Given the description of an element on the screen output the (x, y) to click on. 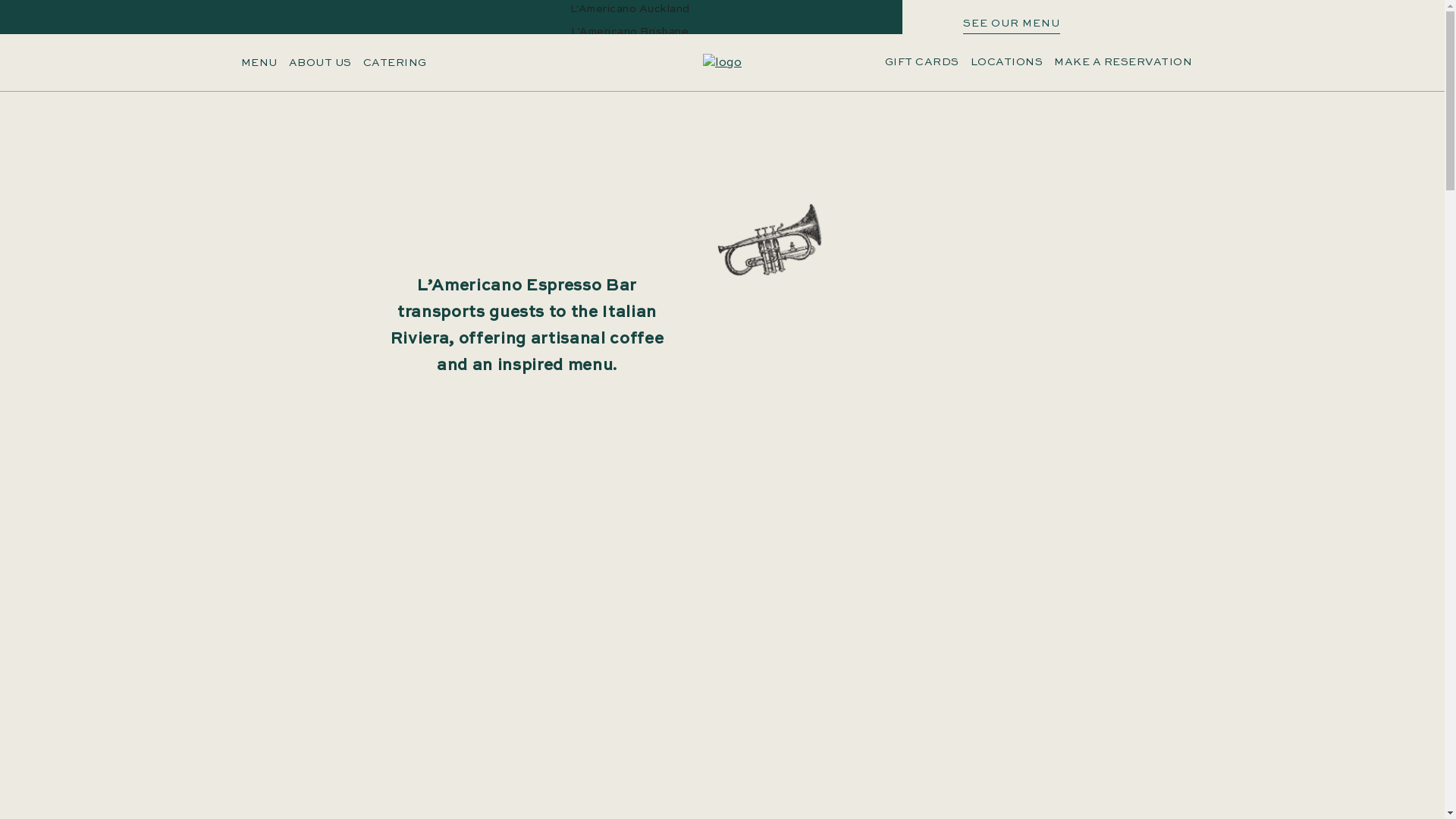
L'Americano Perth Element type: text (630, 77)
L'Americano Canberra Element type: text (629, 54)
L'Americano Sydney North Element type: text (629, 122)
CATERING Element type: text (394, 62)
L'Americano Auckland Element type: text (630, 8)
L'Americano Brisbane Element type: text (629, 31)
SEE OUR MENU Element type: text (1011, 26)
ABOUT US Element type: text (319, 62)
MAKE A RESERVATION Element type: text (1123, 62)
GIFT CARDS Element type: text (921, 62)
MENU Element type: text (259, 62)
LOCATIONS Element type: text (1006, 62)
L'Americano Sydney Element type: text (629, 99)
